Given the description of an element on the screen output the (x, y) to click on. 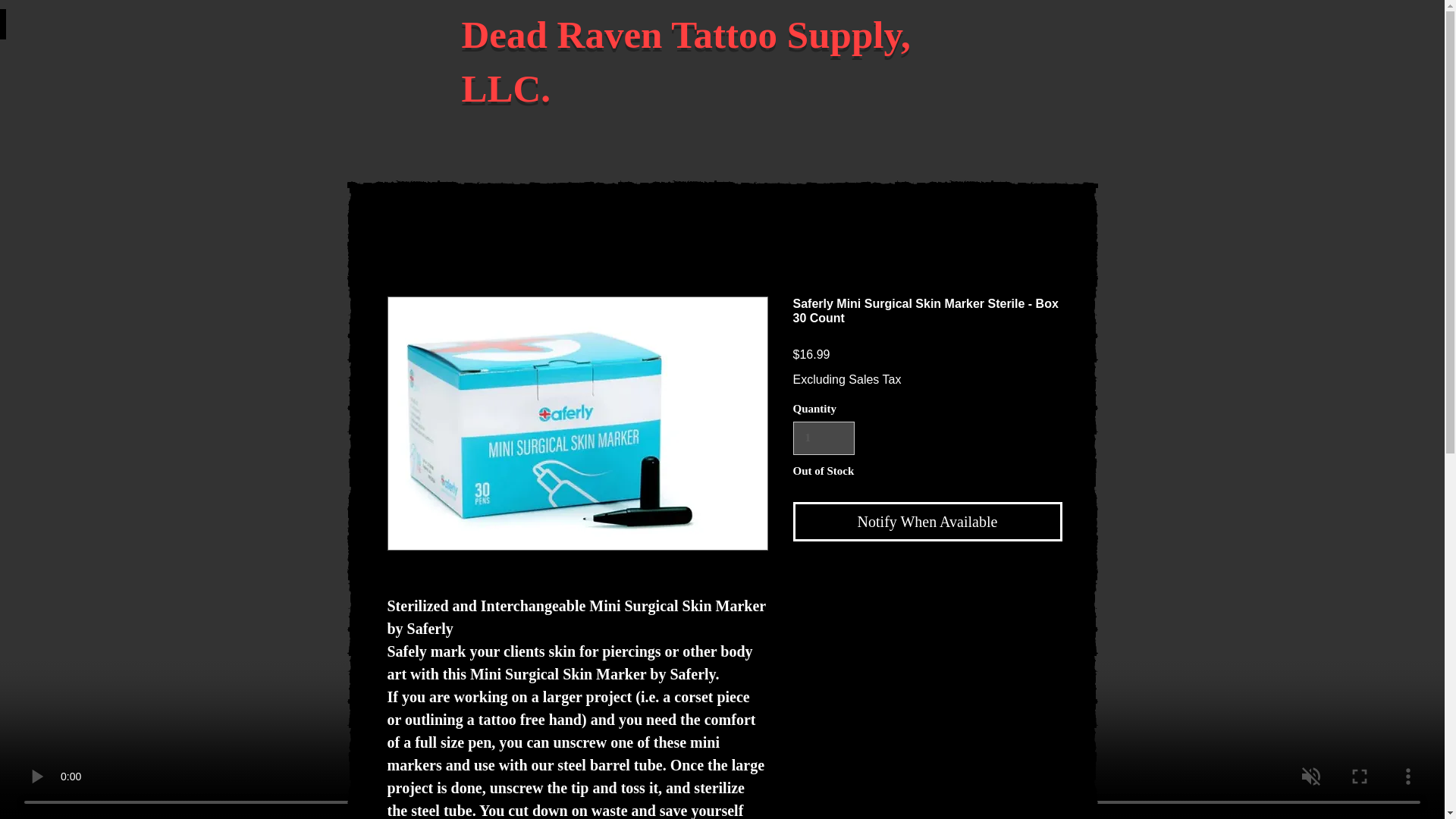
Notify When Available (927, 521)
1 (824, 438)
